Given the description of an element on the screen output the (x, y) to click on. 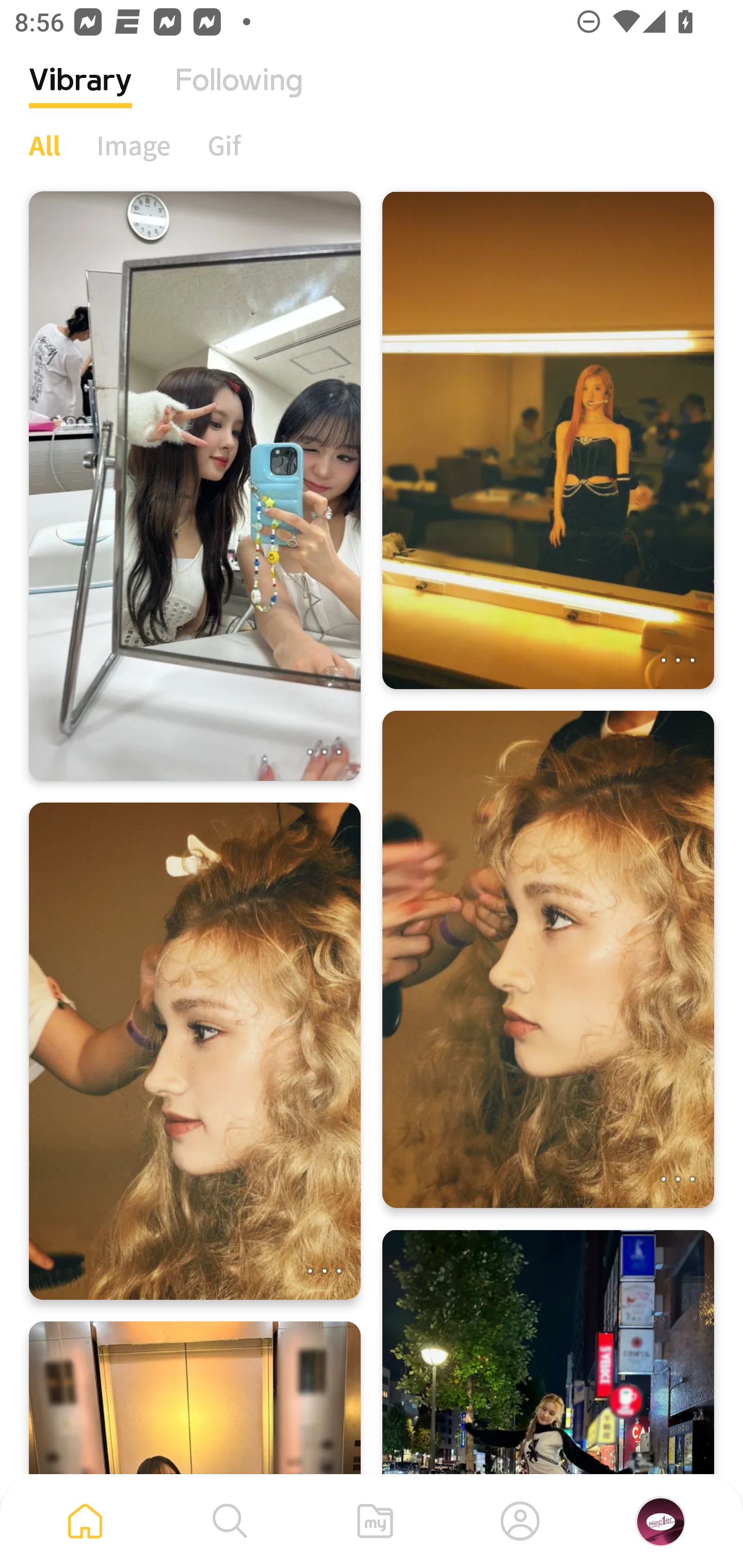
Vibrary (80, 95)
Following (239, 95)
All (44, 145)
Image (133, 145)
Gif (223, 145)
